Given the description of an element on the screen output the (x, y) to click on. 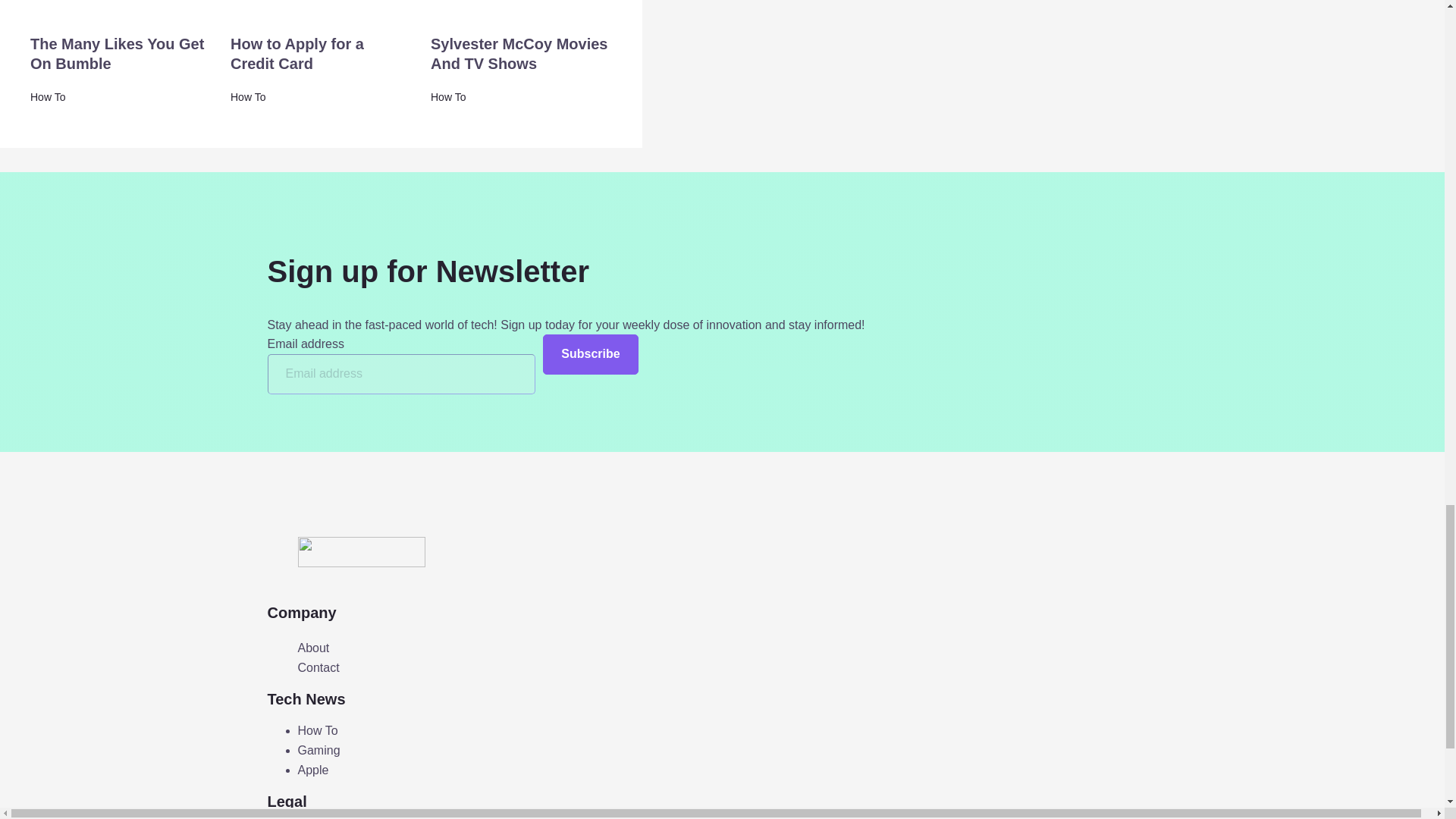
How To (247, 96)
How To (447, 96)
How to Apply for a Credit Card (297, 54)
How To (317, 730)
Gaming (318, 749)
Apple (313, 769)
About (313, 648)
Sylvester McCoy Movies And TV Shows (518, 54)
The Many Likes You Get On Bumble (116, 54)
Please fill in this field. (400, 373)
